Given the description of an element on the screen output the (x, y) to click on. 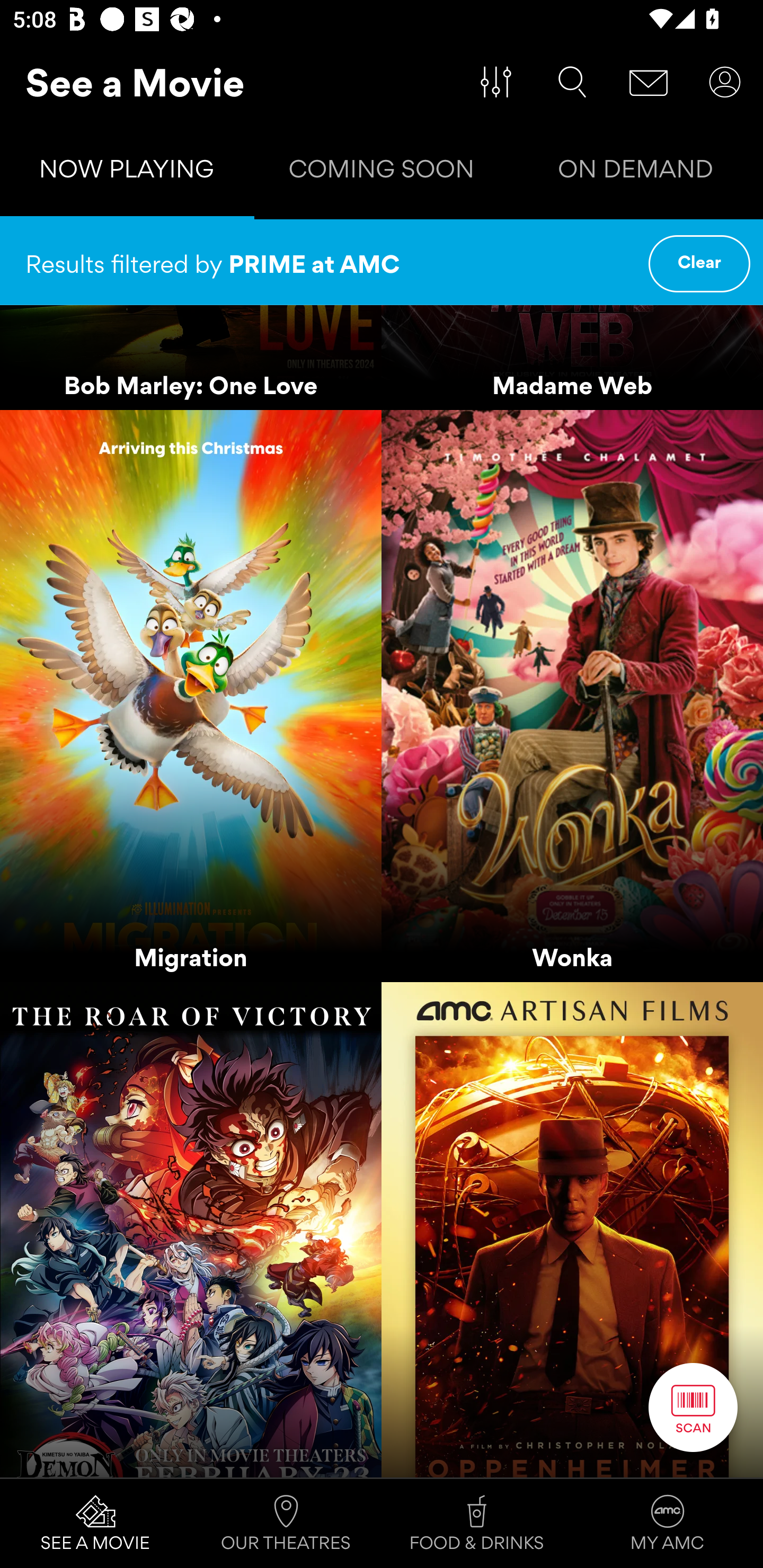
Filter Movies (495, 82)
Search (572, 82)
Message Center (648, 82)
User Account (724, 82)
NOW PLAYING
Tab 1 of 3 (127, 173)
COMING SOON
Tab 2 of 3 (381, 173)
ON DEMAND
Tab 3 of 3 (635, 173)
Clear (699, 263)
Bob Marley: One Love (190, 357)
Madame Web (572, 357)
Migration (190, 695)
Wonka (572, 695)
Oppenheimer (572, 1229)
Scan Button (692, 1406)
SEE A MOVIE
Tab 1 of 4 (95, 1523)
OUR THEATRES
Tab 2 of 4 (285, 1523)
FOOD & DRINKS
Tab 3 of 4 (476, 1523)
MY AMC
Tab 4 of 4 (667, 1523)
